Given the description of an element on the screen output the (x, y) to click on. 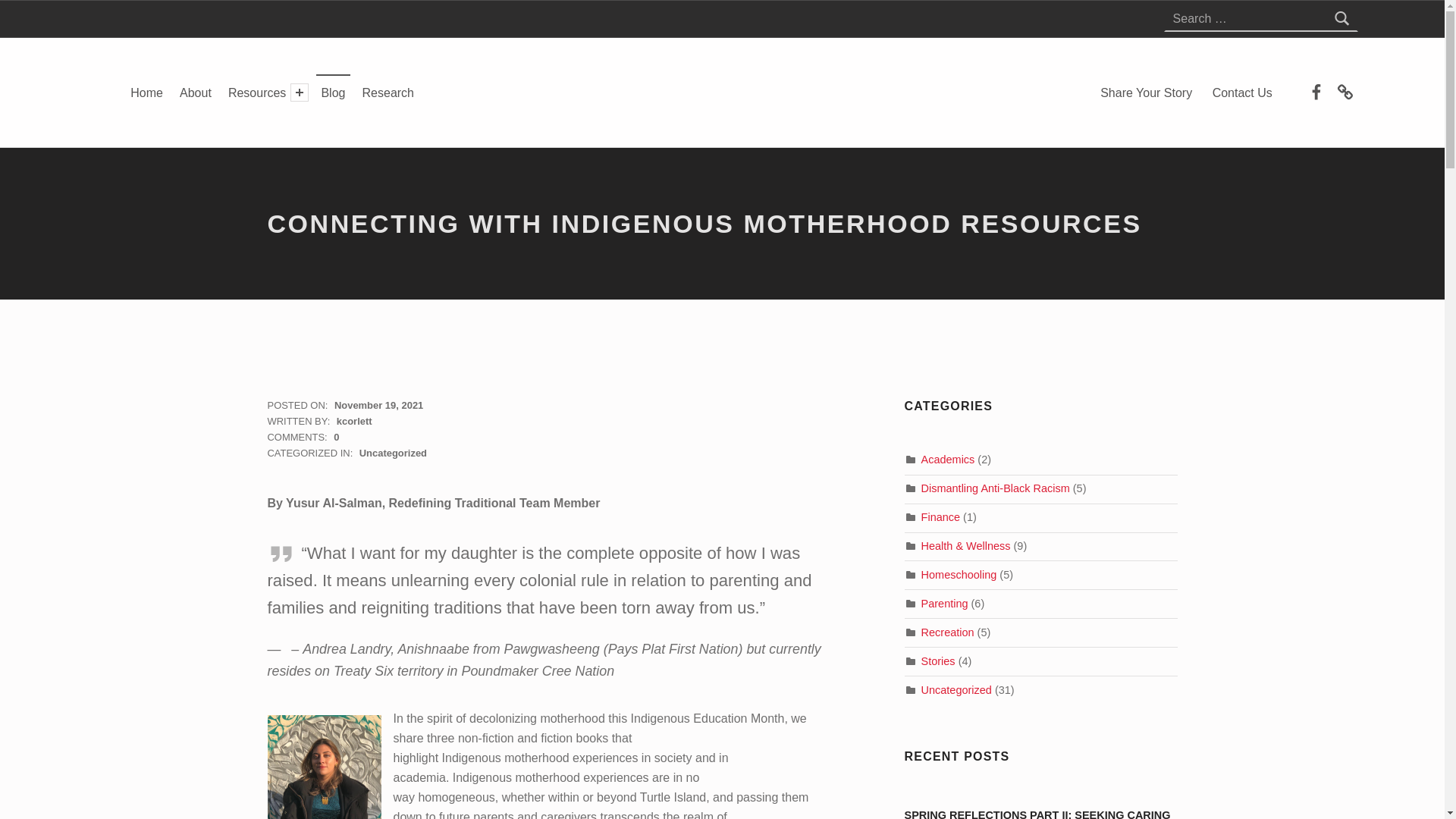
Comments: 0 (302, 437)
COMMENTS: 0 (302, 437)
Uncategorized (392, 452)
November 19, 2021 (378, 405)
Posted on: November 19, 2021 (378, 405)
Contact Us (1242, 91)
Blog (332, 92)
About (194, 92)
Home (146, 92)
Resources (257, 92)
